Given the description of an element on the screen output the (x, y) to click on. 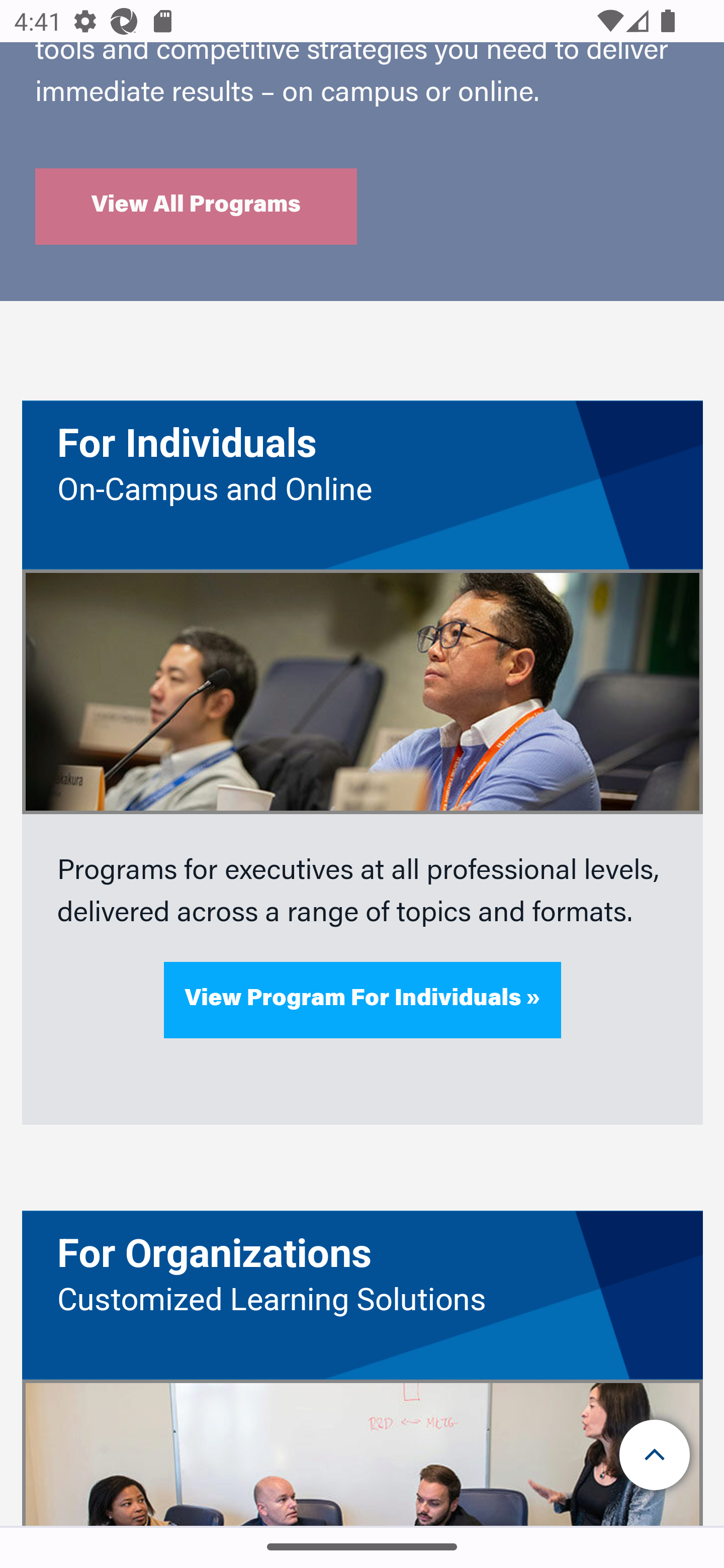
View All Programs (195, 207)
For Individuals For Individuals For Individuals (362, 444)
Participants in classroom (361, 691)
View Program For Individuals » (362, 1000)
 (655, 1455)
